Given the description of an element on the screen output the (x, y) to click on. 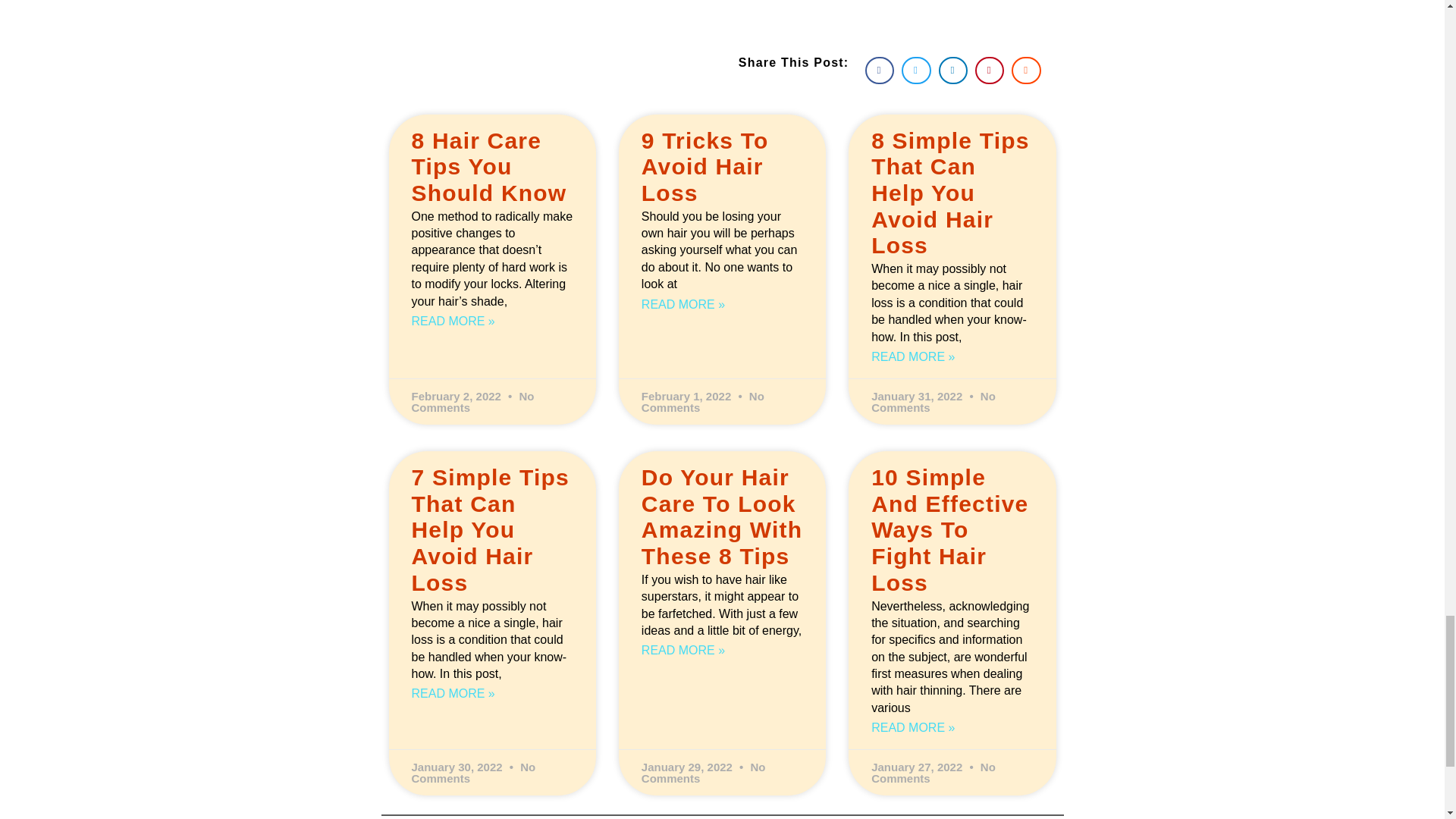
8 Simple Tips That Can Help You Avoid Hair Loss (949, 192)
9 Tricks To Avoid Hair Loss (705, 166)
8 Hair Care Tips You Should Know (488, 166)
